Given the description of an element on the screen output the (x, y) to click on. 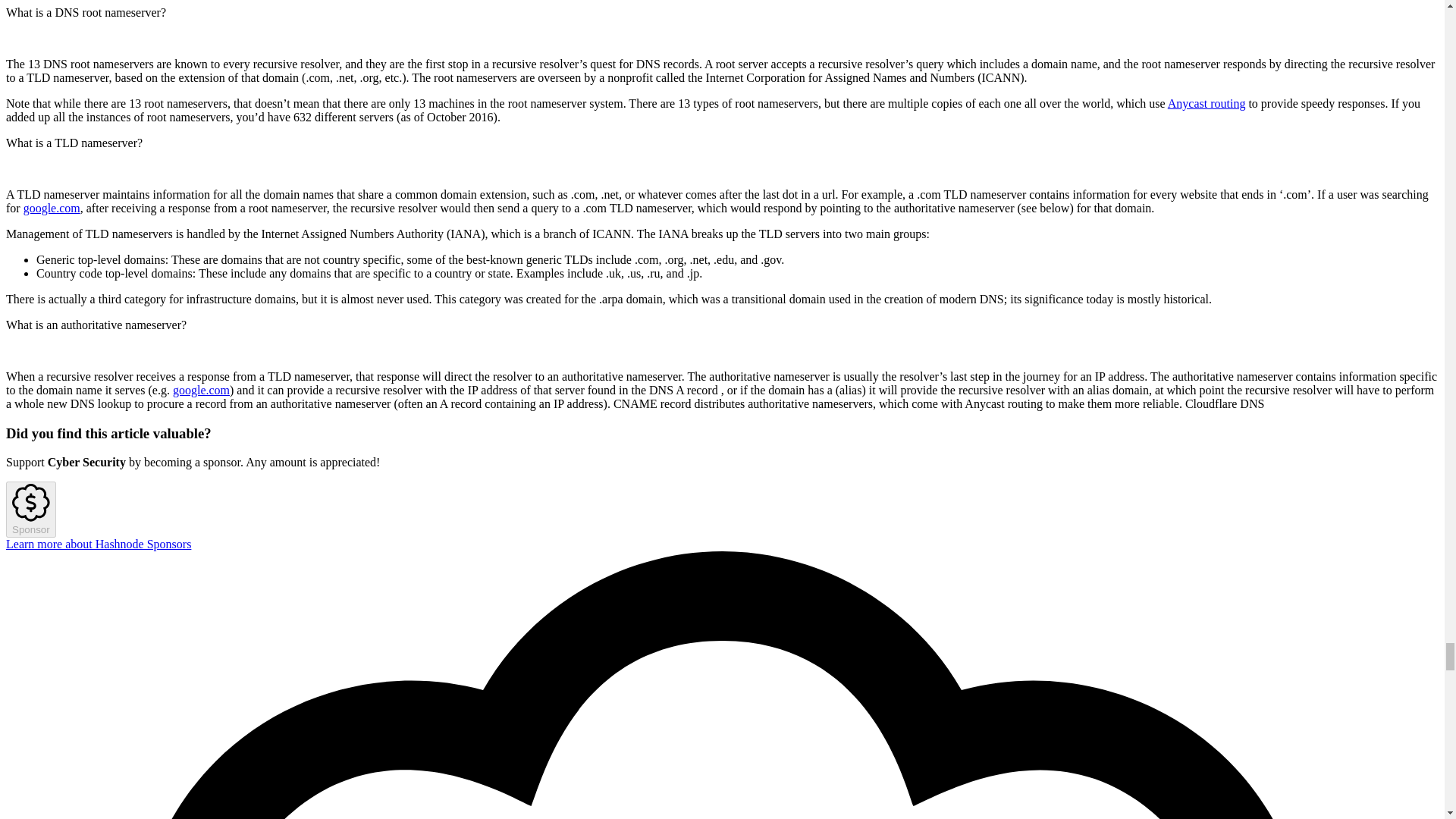
Sponsor (30, 509)
Anycast routing (1206, 103)
google.com (201, 390)
Learn more about Hashnode Sponsors (97, 543)
google.com (51, 207)
